Given the description of an element on the screen output the (x, y) to click on. 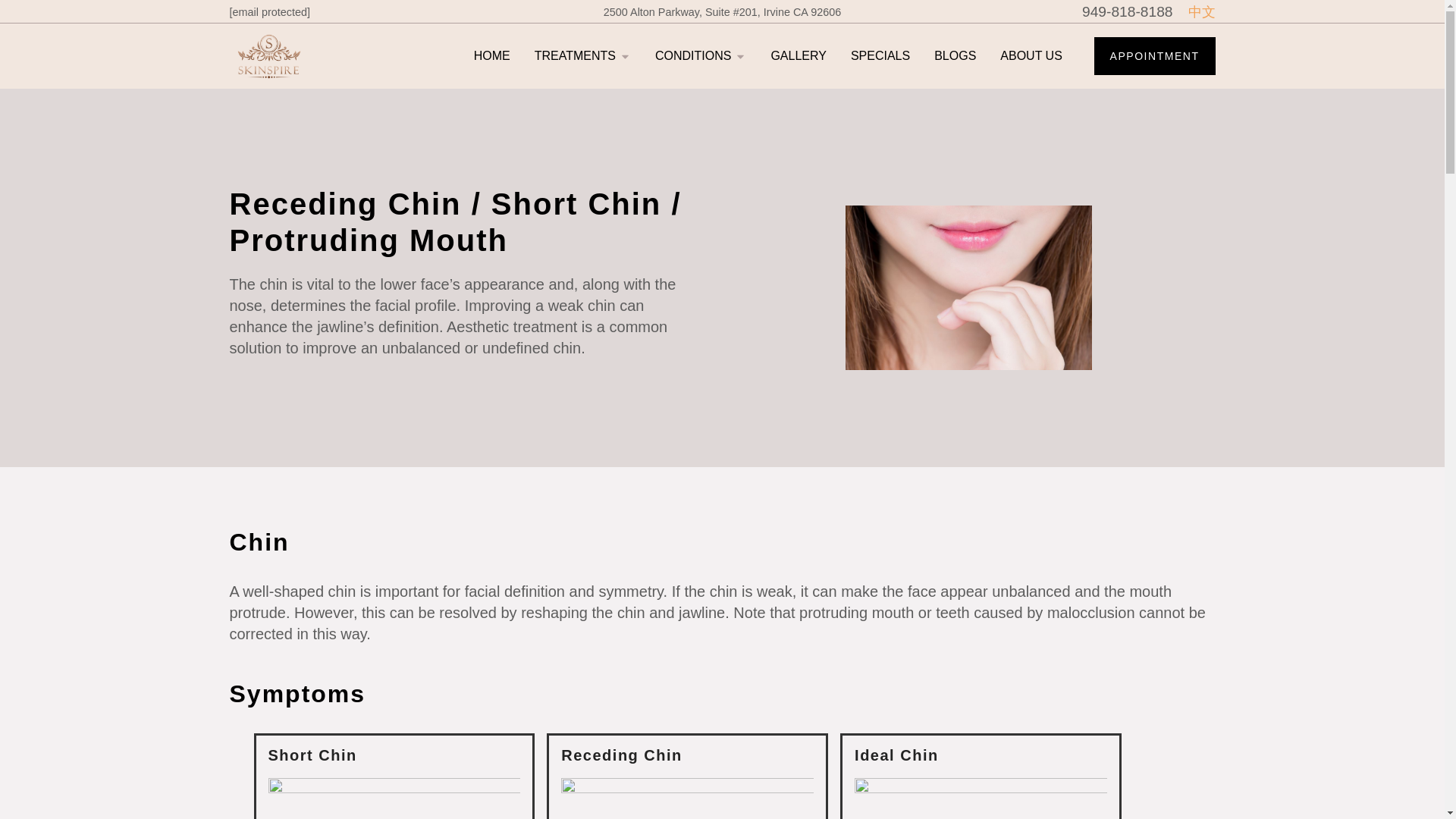
949-818-8188 (1127, 12)
ABOUT US (1031, 55)
HOME (492, 55)
SPECIALS (880, 55)
GALLERY (798, 55)
BLOGS (954, 55)
